Given the description of an element on the screen output the (x, y) to click on. 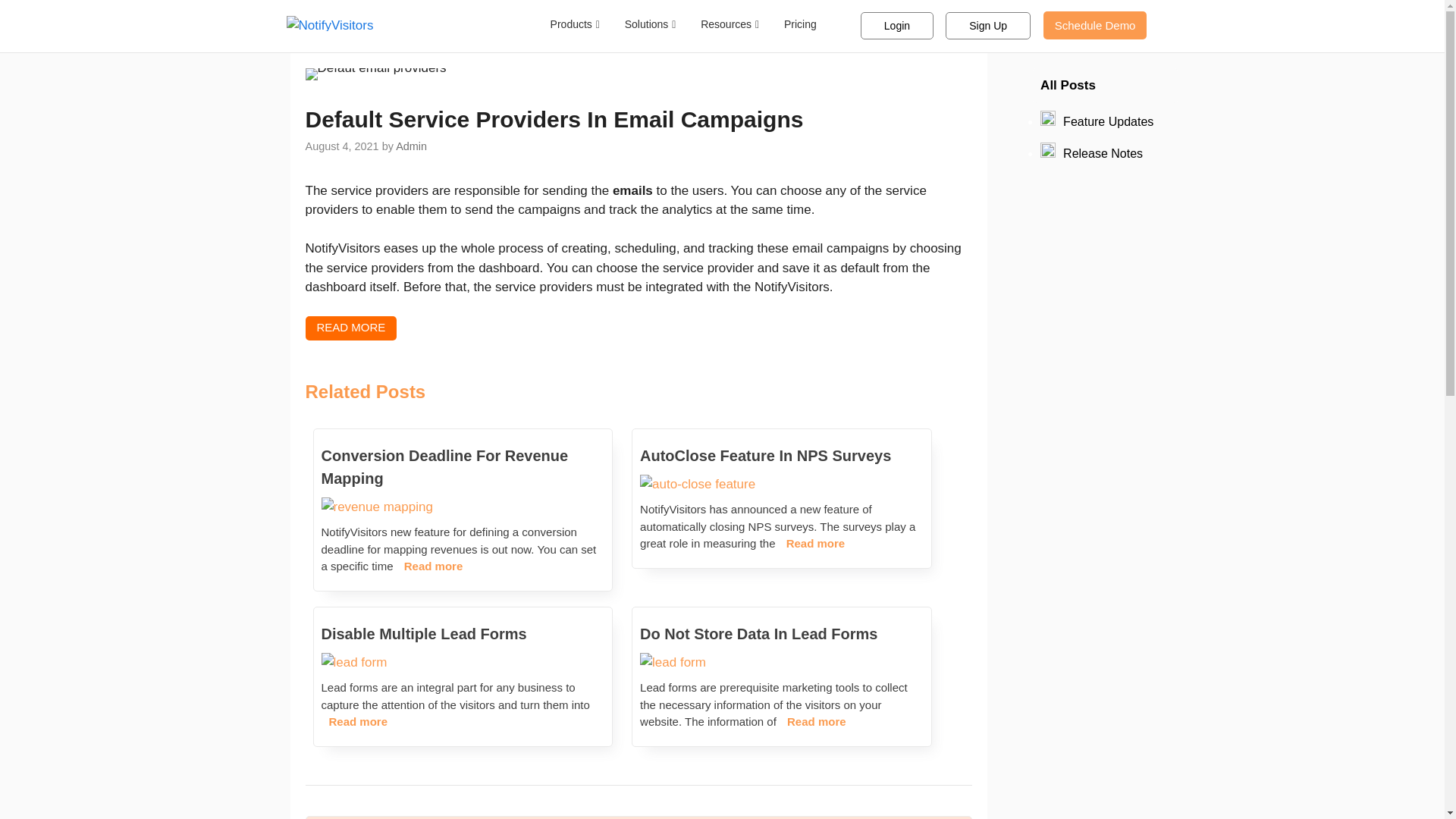
Disable Multiple Lead Forms (354, 662)
Pricing (800, 24)
Resources (730, 24)
Solutions (650, 24)
AutoClose Feature In NPS Surveys (781, 455)
View all posts by Admin (411, 146)
Conversion Deadline For Revenue Mapping (376, 506)
Do Not Store Data In Lead Forms (781, 633)
AutoClose Feature In NPS Surveys (697, 483)
Disable Multiple Lead Forms (463, 633)
